Given the description of an element on the screen output the (x, y) to click on. 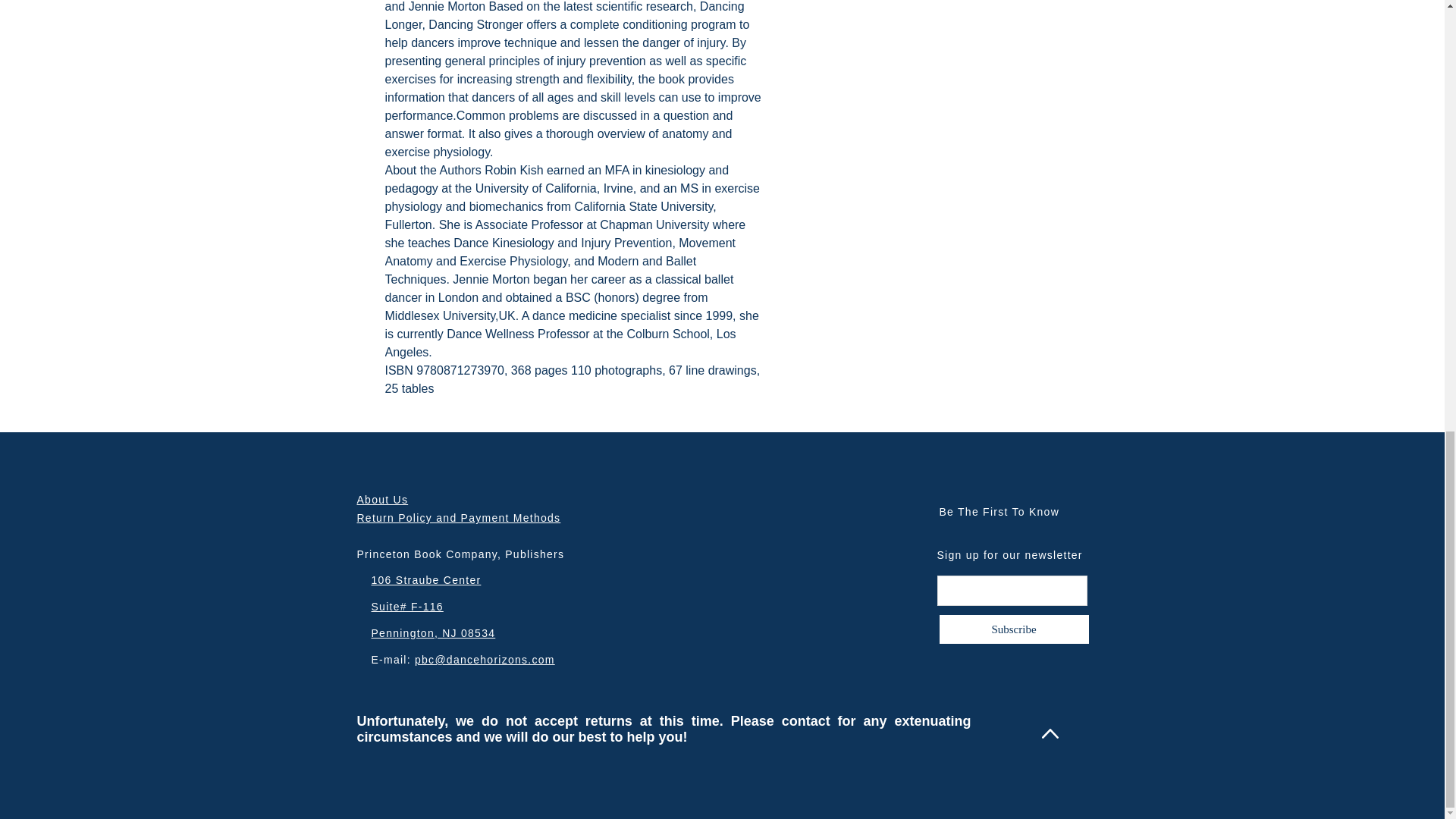
Return Policy and Payment Methods (458, 517)
Pennington, NJ 08534 (433, 633)
106 Straube Center (426, 580)
About Us (381, 499)
Subscribe (1013, 629)
